Given the description of an element on the screen output the (x, y) to click on. 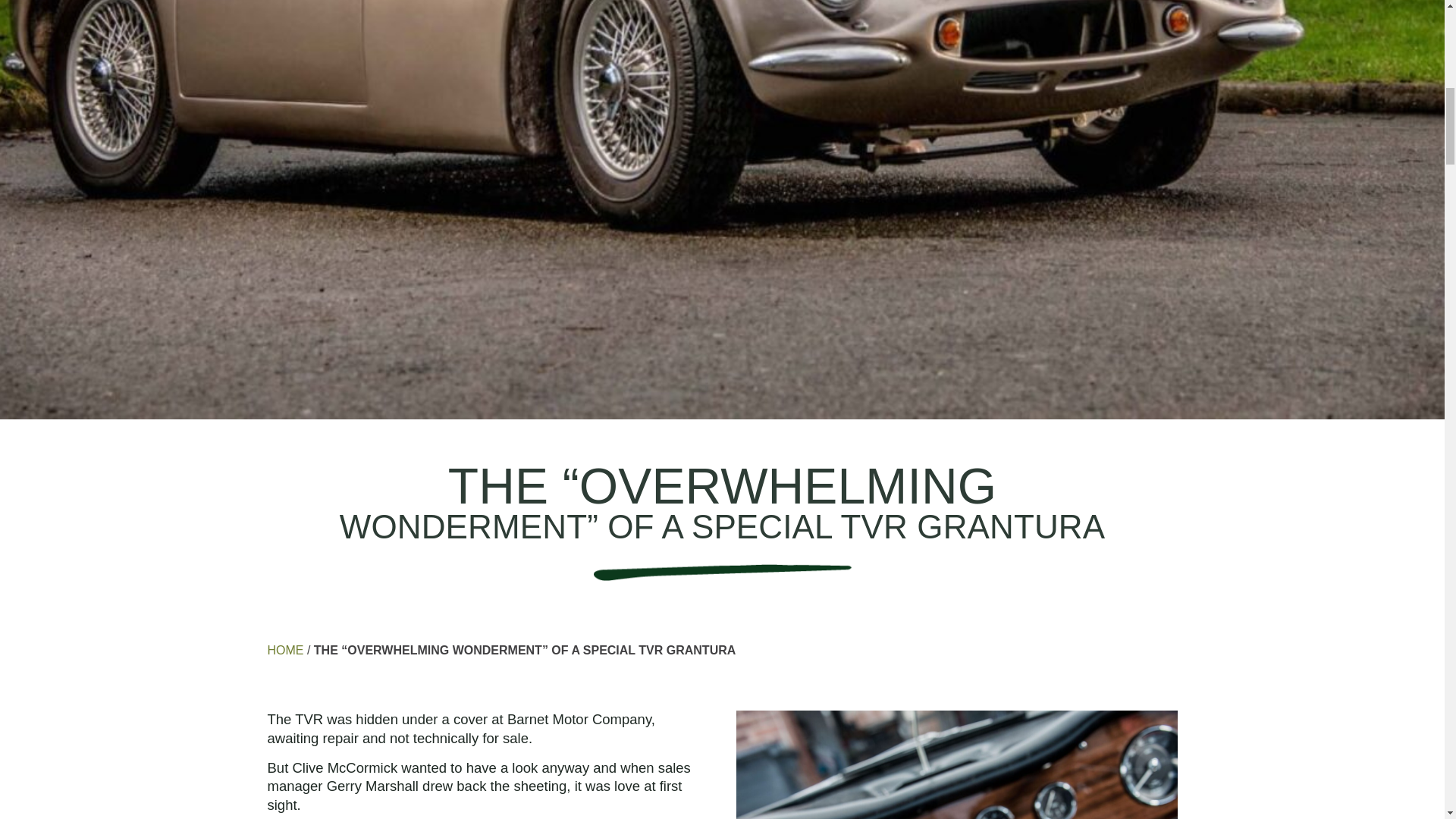
HOME (284, 649)
